Given the description of an element on the screen output the (x, y) to click on. 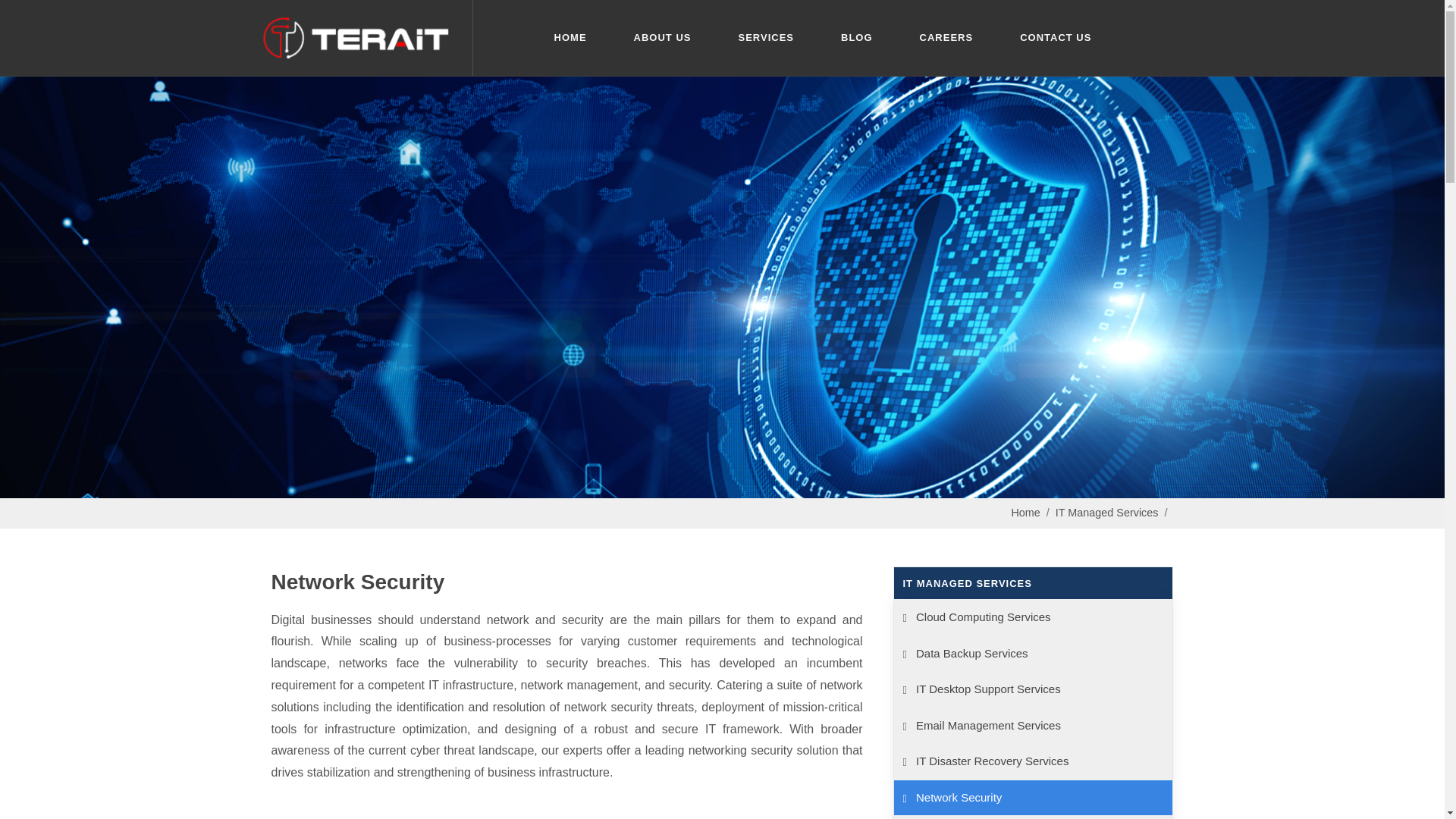
SERVICES (765, 38)
ABOUT US (662, 38)
HOME (570, 38)
